Given the description of an element on the screen output the (x, y) to click on. 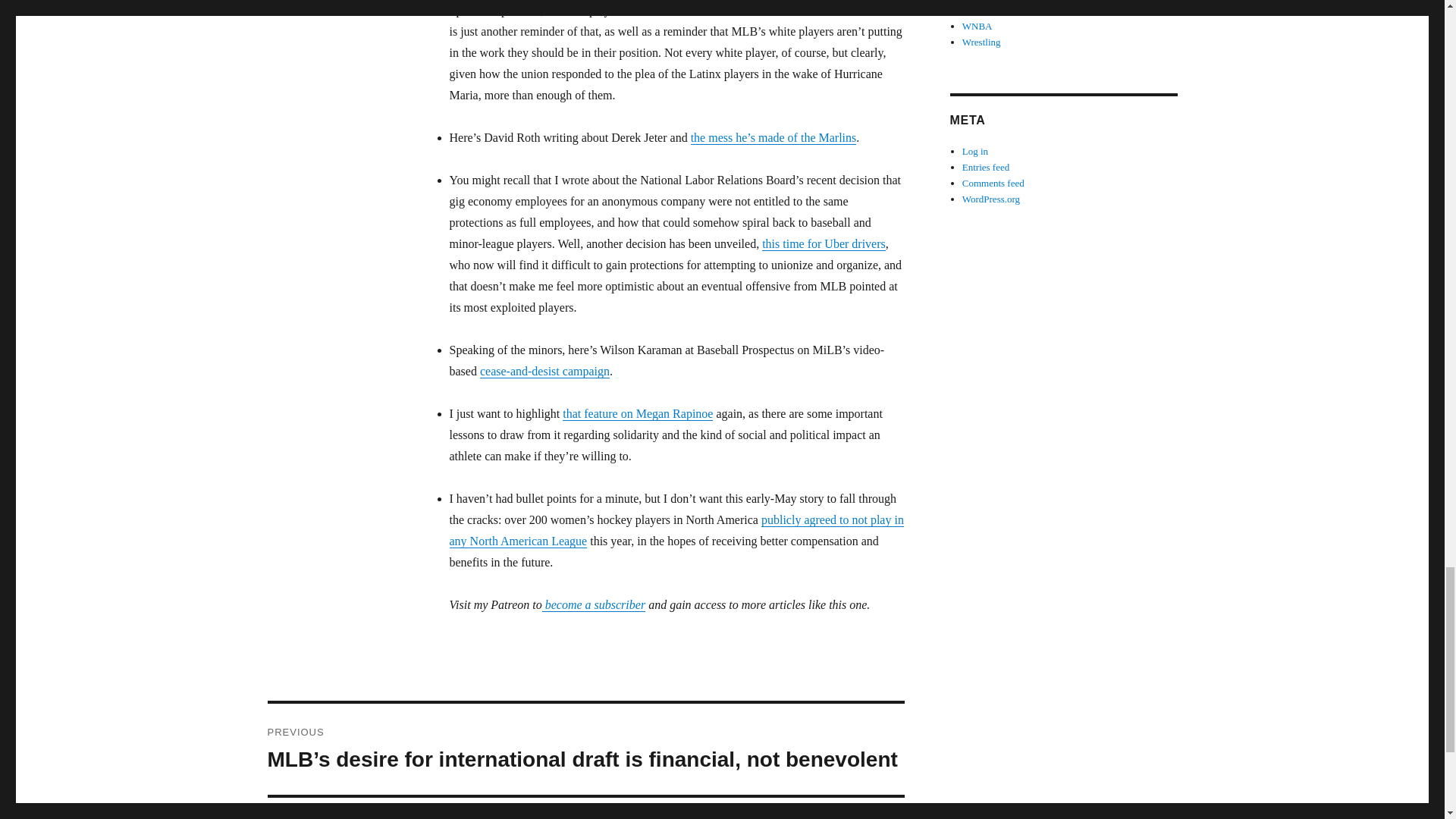
cease-and-desist campaign (545, 370)
become a subscriber (593, 604)
that feature on Megan Rapinoe (637, 413)
this time for Uber drivers (823, 243)
publicly agreed to not play in any North American League (675, 530)
